Given the description of an element on the screen output the (x, y) to click on. 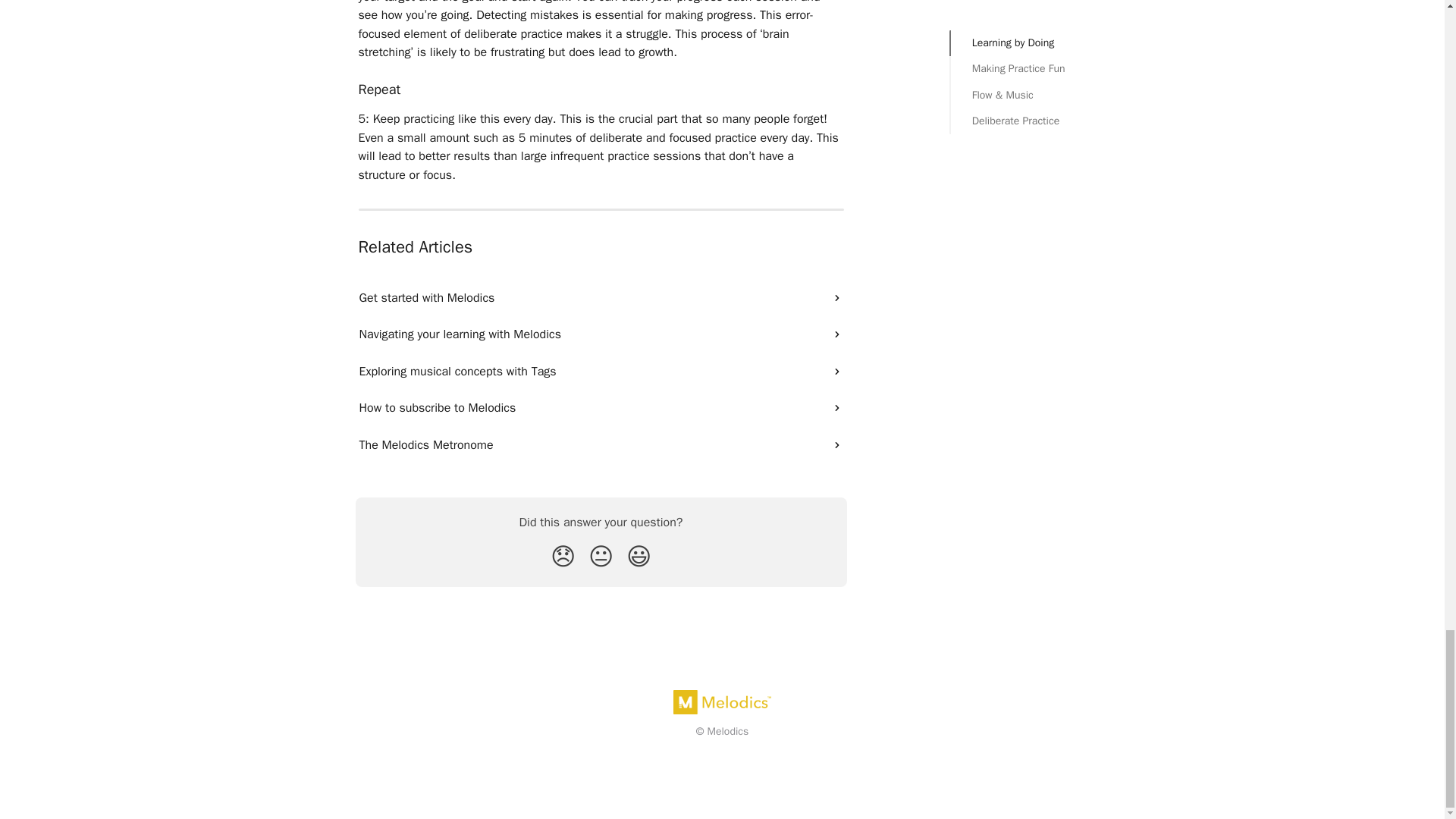
How to subscribe to Melodics (600, 407)
Navigating your learning with Melodics (600, 334)
The Melodics Metronome (600, 443)
Get started with Melodics (600, 298)
Exploring musical concepts with Tags (600, 370)
